Given the description of an element on the screen output the (x, y) to click on. 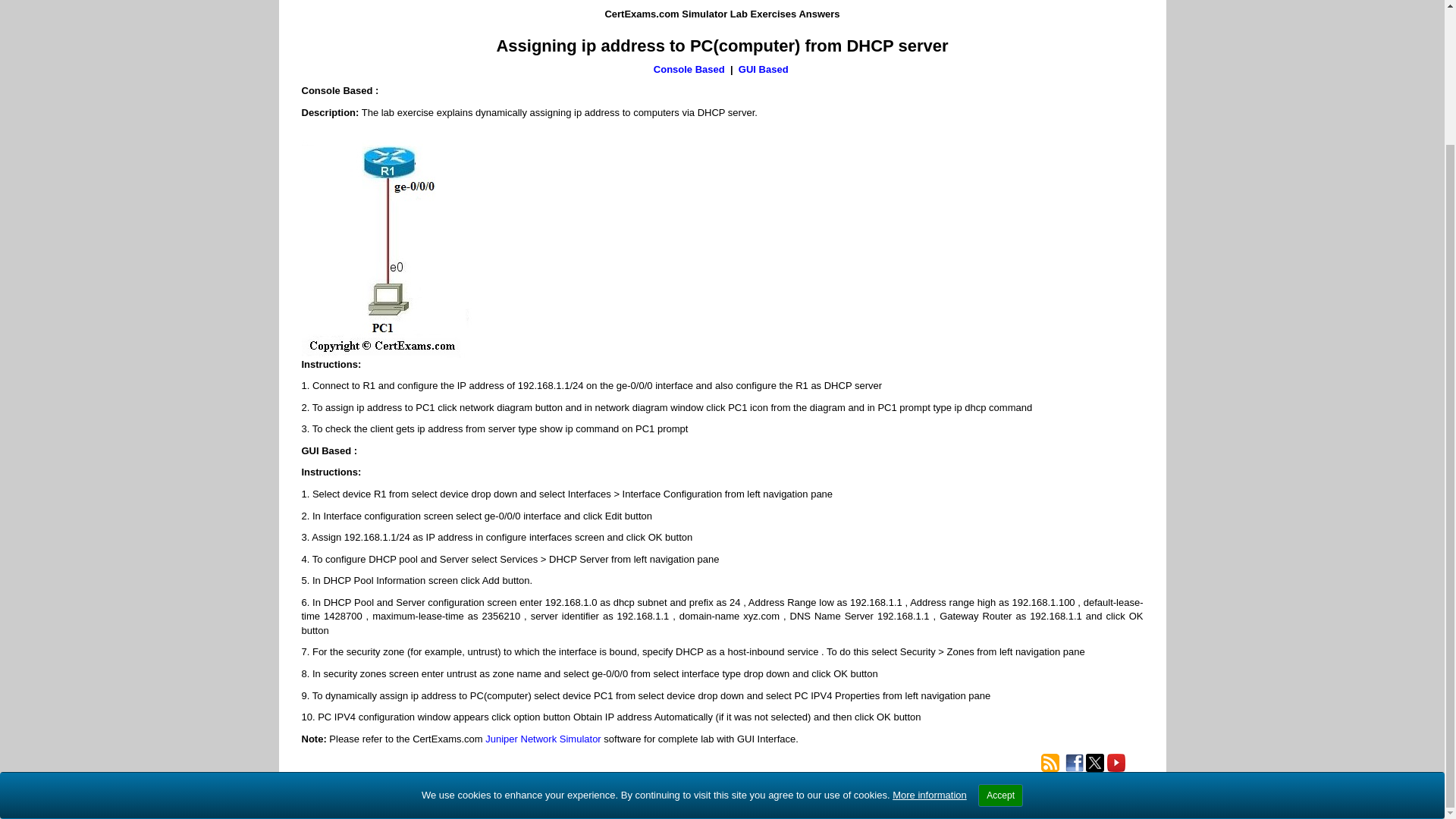
GUI Based  (764, 69)
Certexams.com Facebook Page (1074, 762)
Console Based (689, 69)
Certexams.com Twitter Page (1094, 762)
Juniper Network Simulator (541, 738)
